Given the description of an element on the screen output the (x, y) to click on. 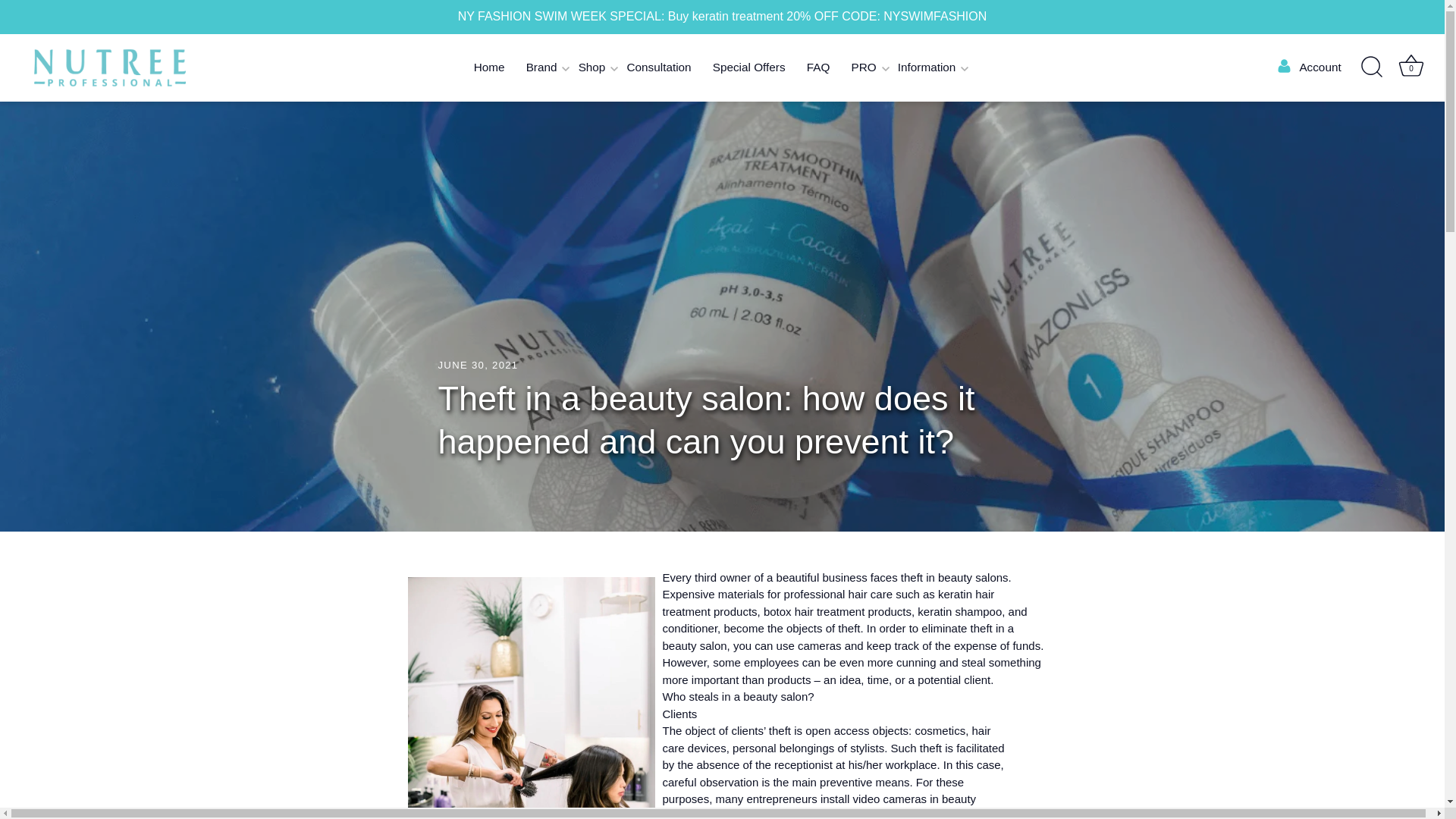
Brand (541, 68)
Shop (591, 68)
Basket (1410, 65)
FAQ (818, 68)
Information (926, 68)
Consultation (658, 68)
Home (488, 68)
PRO (863, 68)
Special Offers (748, 68)
